Given the description of an element on the screen output the (x, y) to click on. 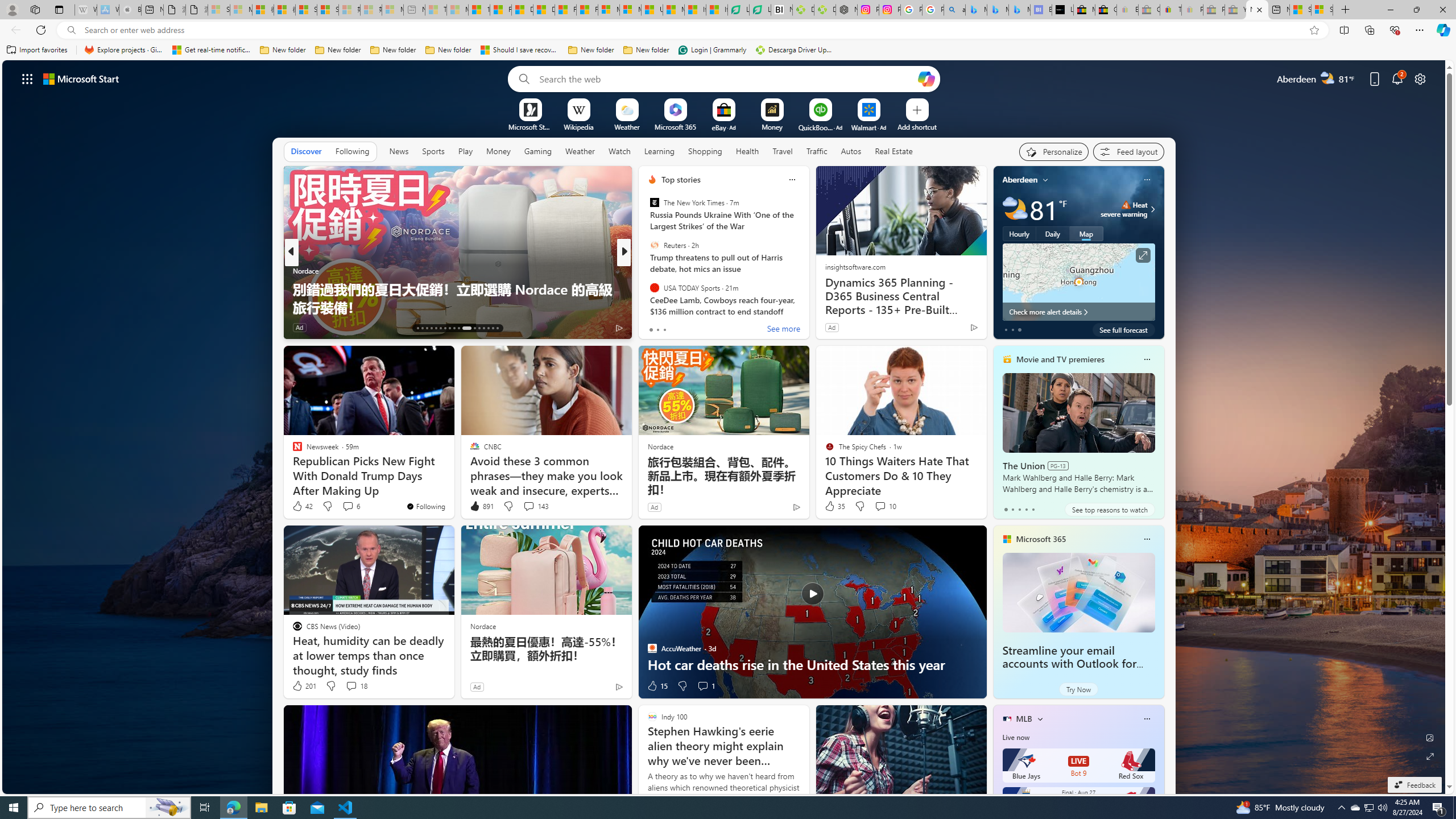
Money (498, 151)
Streamline your email accounts with Outlook for Windows (1077, 592)
AutomationID: tab-20 (449, 328)
View comments 7 Comment (702, 327)
Sign in to your Microsoft account (1322, 9)
AutomationID: tab-13 (417, 328)
Daily (1052, 233)
Map (1085, 233)
You're following Newsweek (425, 505)
